Given the description of an element on the screen output the (x, y) to click on. 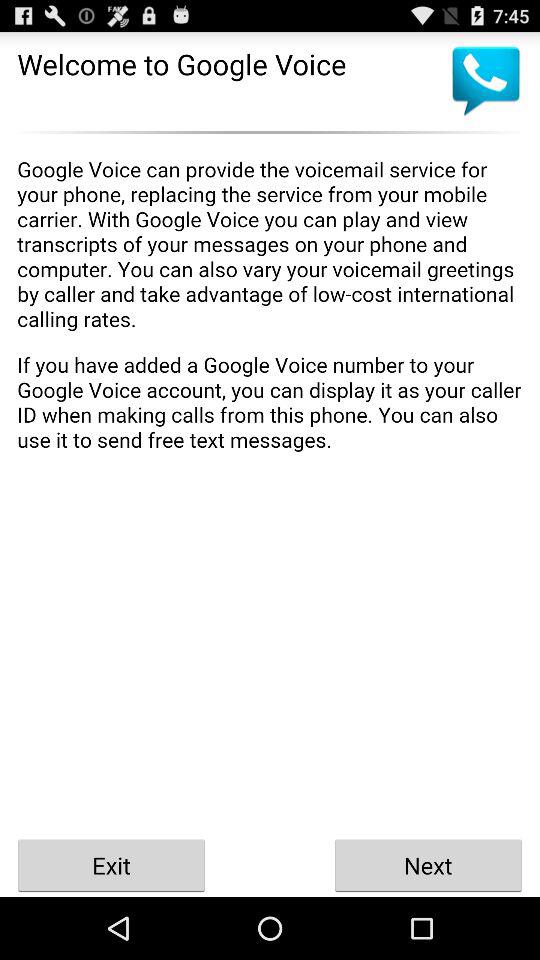
select item at the bottom left corner (111, 864)
